Given the description of an element on the screen output the (x, y) to click on. 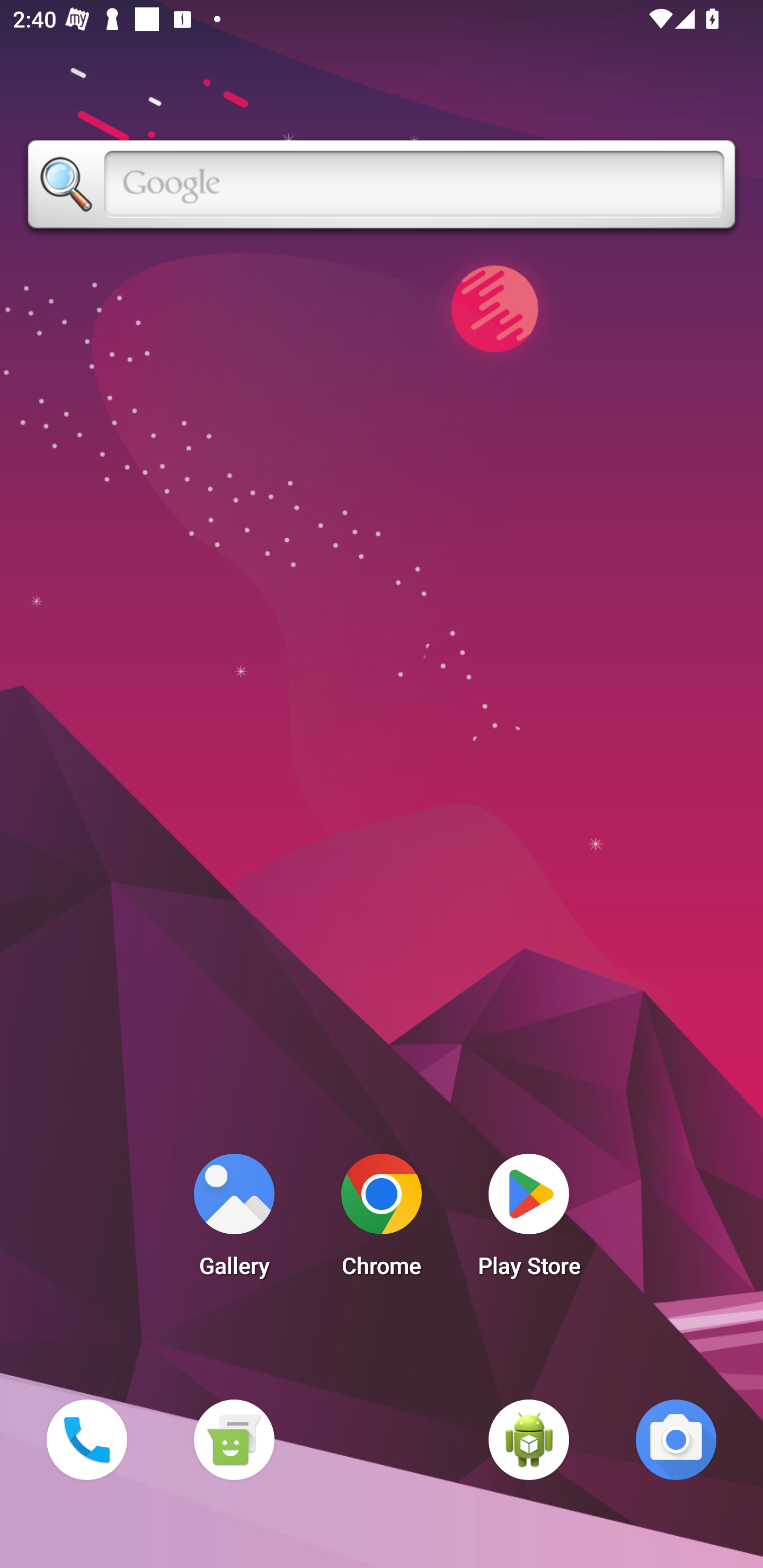
Gallery (233, 1220)
Chrome (381, 1220)
Play Store (528, 1220)
Phone (86, 1439)
Messaging (233, 1439)
WebView Browser Tester (528, 1439)
Camera (676, 1439)
